Given the description of an element on the screen output the (x, y) to click on. 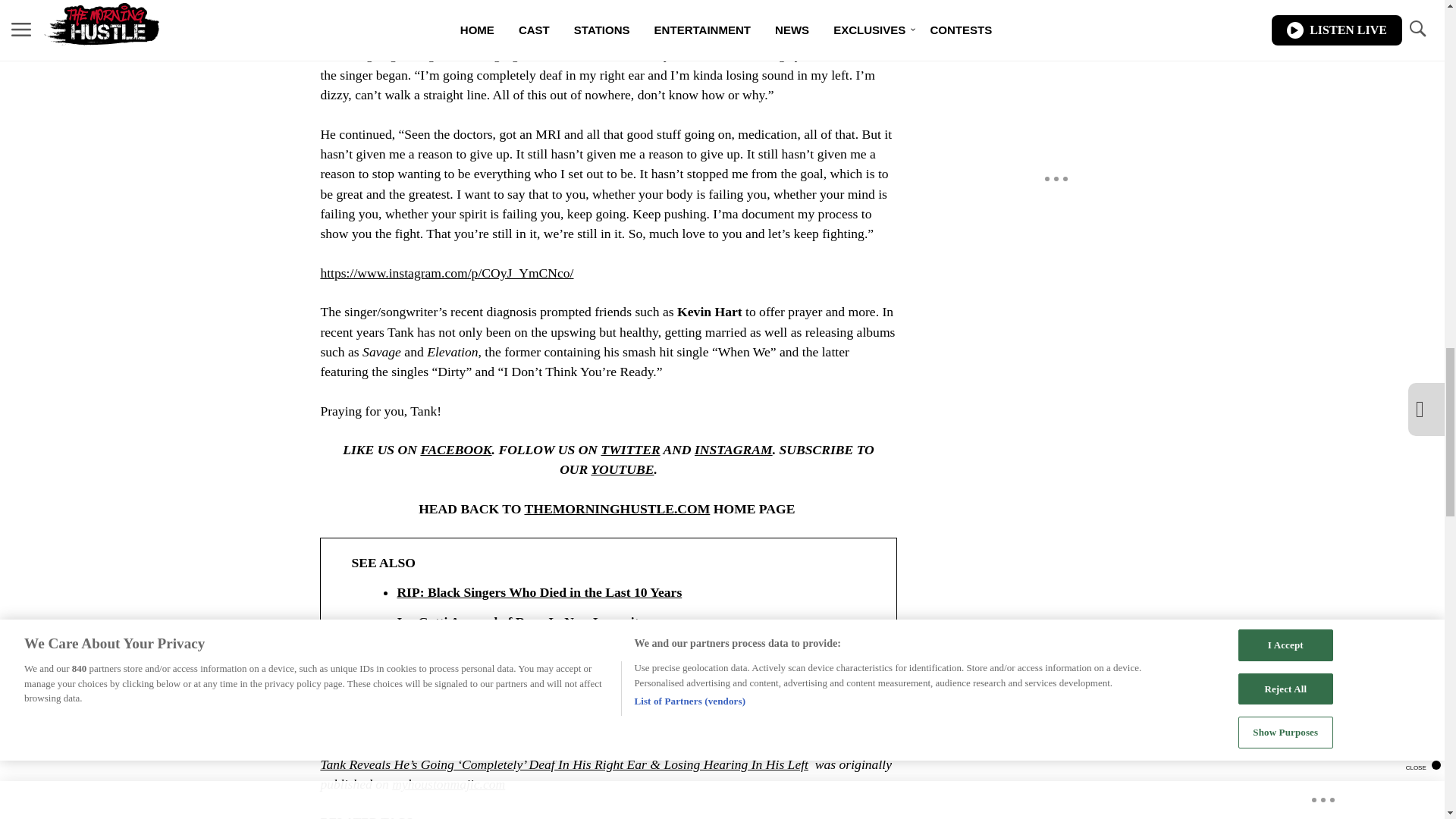
TWITTER (629, 449)
RIP: Black Singers Who Died in the Last 10 Years (623, 592)
YOUTUBE (622, 468)
THEMORNINGHUSTLE.COM (617, 508)
FACEBOOK (456, 449)
myhoustonmajic.com (448, 783)
President Biden To Drop Out Of Presidential Race (623, 651)
INSTAGRAM (733, 449)
Irv Gotti Accused of Rape In New Lawsuit (623, 621)
